Given the description of an element on the screen output the (x, y) to click on. 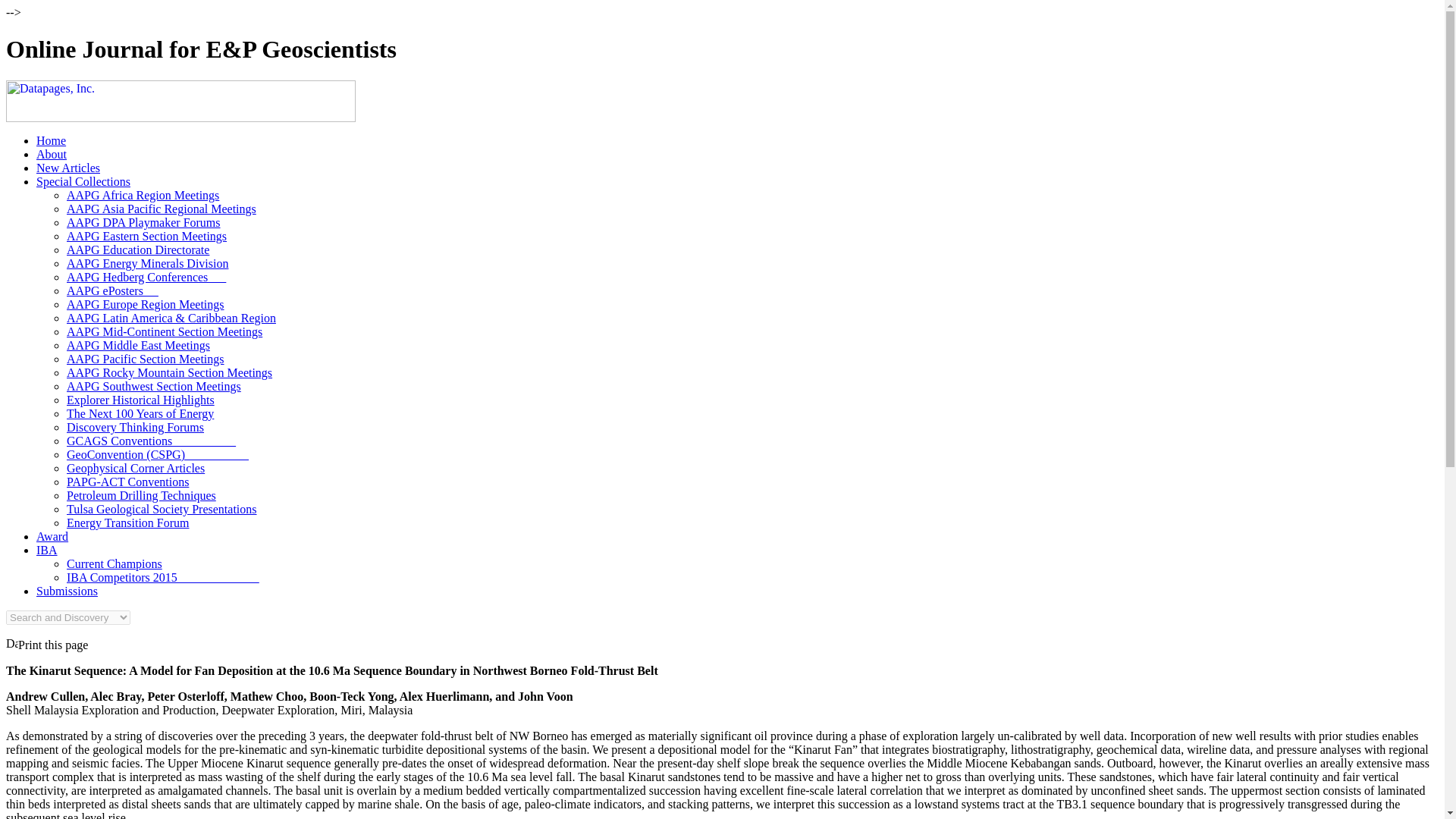
AAPG DPA Playmaker Forums (143, 222)
Explorer Historical Highlights (140, 399)
AAPG Eastern Section Meetings (146, 236)
AAPG Rocky Mountain Section Meetings (169, 372)
About (51, 154)
AAPG Education Directorate (137, 249)
IBA Competitors 2015                            (162, 576)
AAPG Asia Pacific Regional Meetings (161, 208)
GCAGS Conventions                      (150, 440)
AAPG Europe Region Meetings (145, 304)
